Given the description of an element on the screen output the (x, y) to click on. 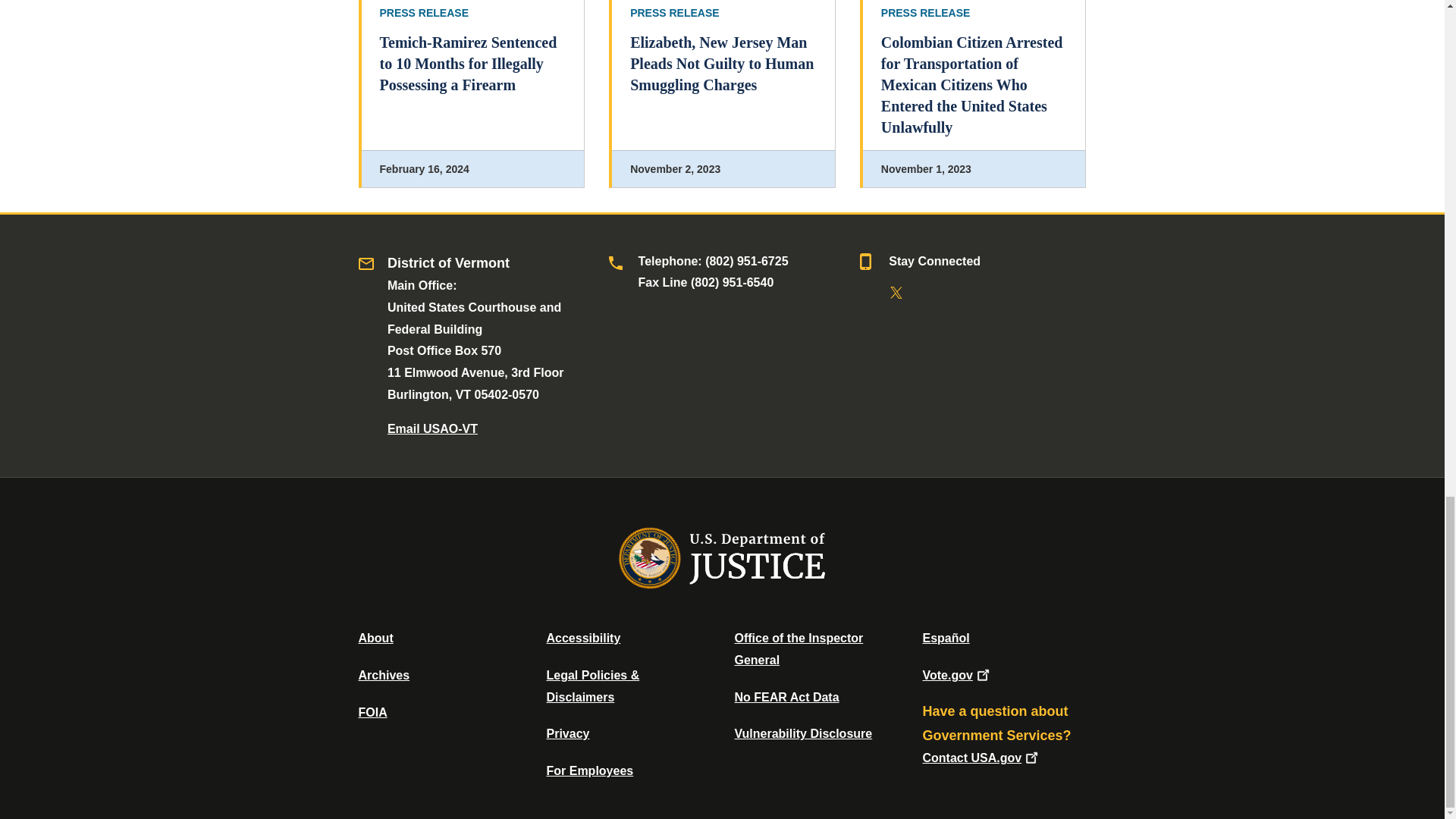
Accessibility Statement (583, 637)
Office of Information Policy (372, 712)
For Employees (589, 770)
About DOJ (375, 637)
Data Posted Pursuant To The No Fear Act (785, 697)
Legal Policies and Disclaimers (592, 686)
Department of Justice Archive (383, 675)
